Given the description of an element on the screen output the (x, y) to click on. 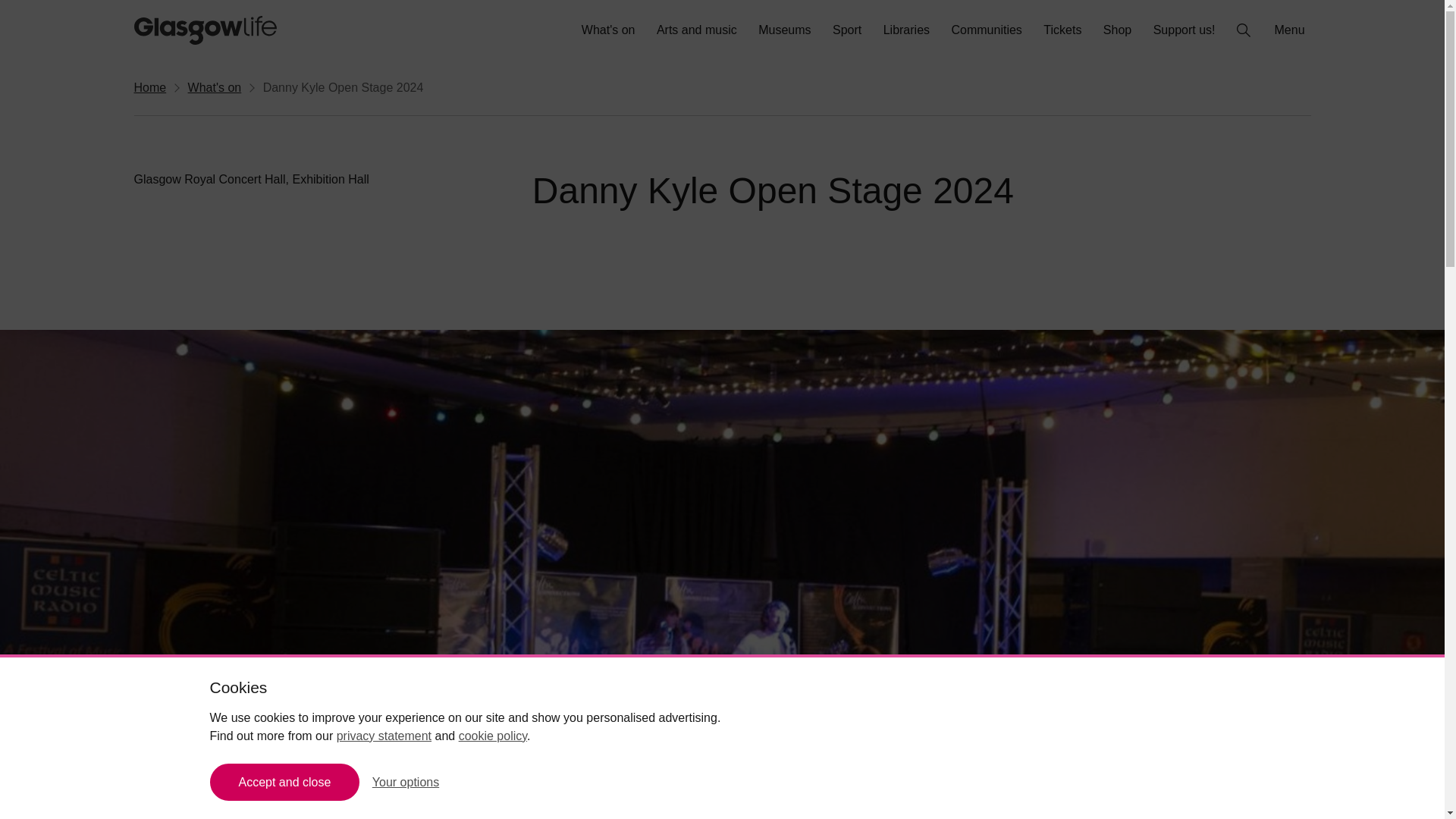
Tickets (1062, 30)
Arts and music (696, 30)
Support us! (1184, 30)
Communities (986, 30)
Libraries (906, 30)
Menu (1290, 30)
cookie policy (492, 735)
Museums (784, 30)
privacy statement (383, 735)
Accept and close (284, 781)
